Given the description of an element on the screen output the (x, y) to click on. 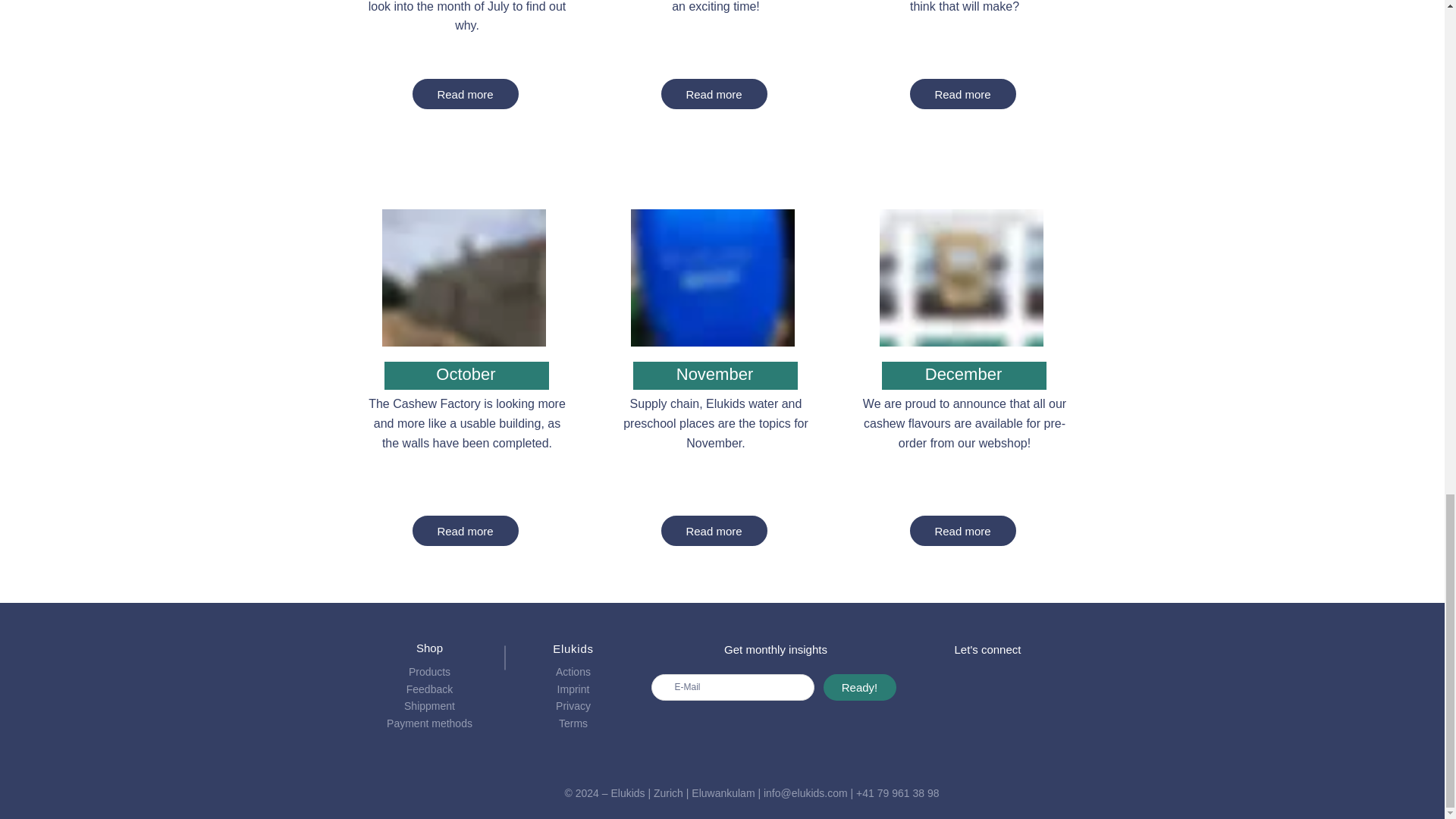
Read more (963, 530)
Read more (714, 93)
Imprint (573, 689)
Shippment (429, 705)
Products (429, 671)
Read more (714, 530)
Feedback (429, 689)
Actions (573, 671)
Read more (465, 530)
Payment methods (429, 723)
Read more (465, 93)
Read more (963, 93)
